Given the description of an element on the screen output the (x, y) to click on. 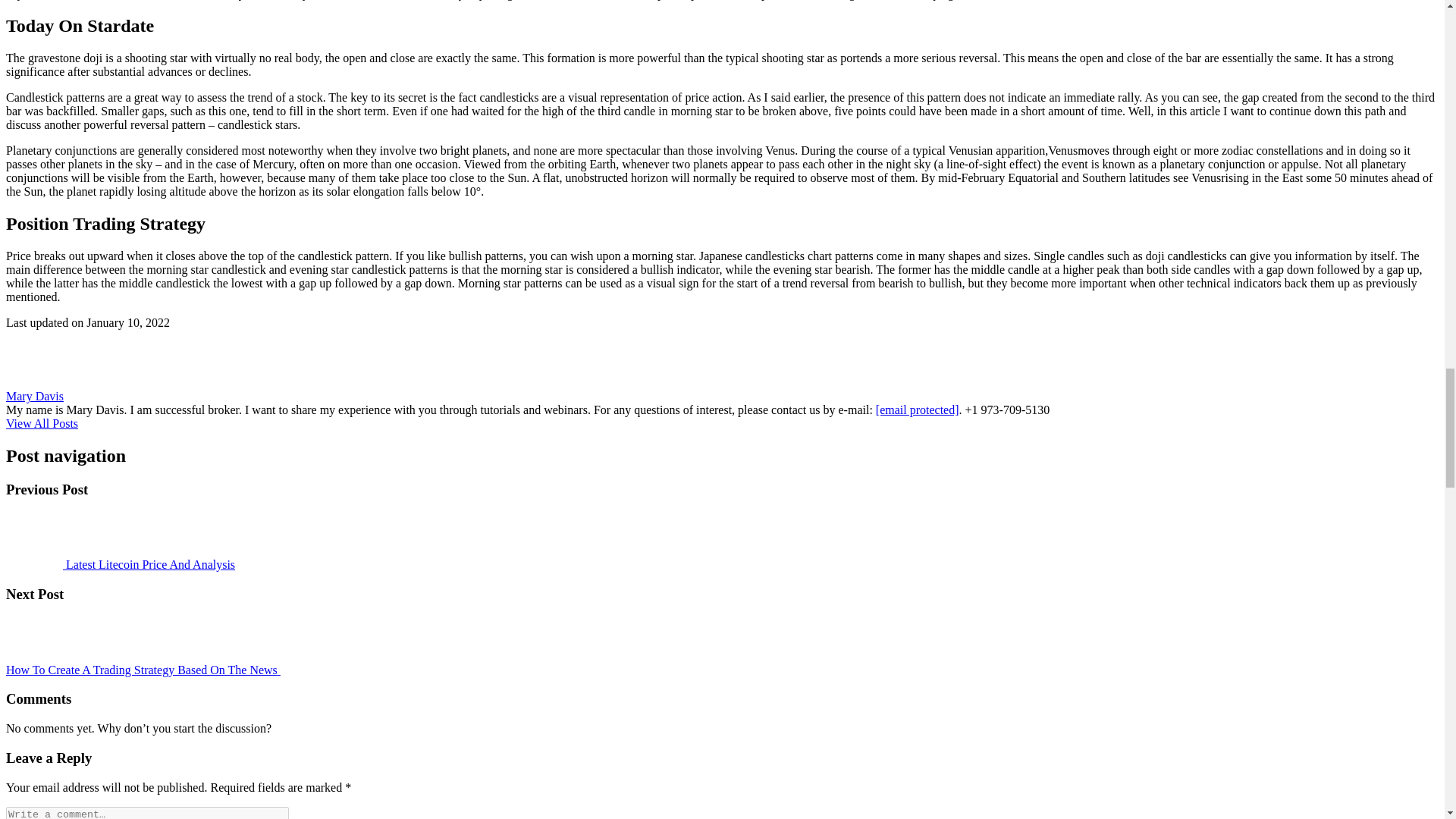
View All Posts (41, 422)
Mary Davis (34, 395)
